Given the description of an element on the screen output the (x, y) to click on. 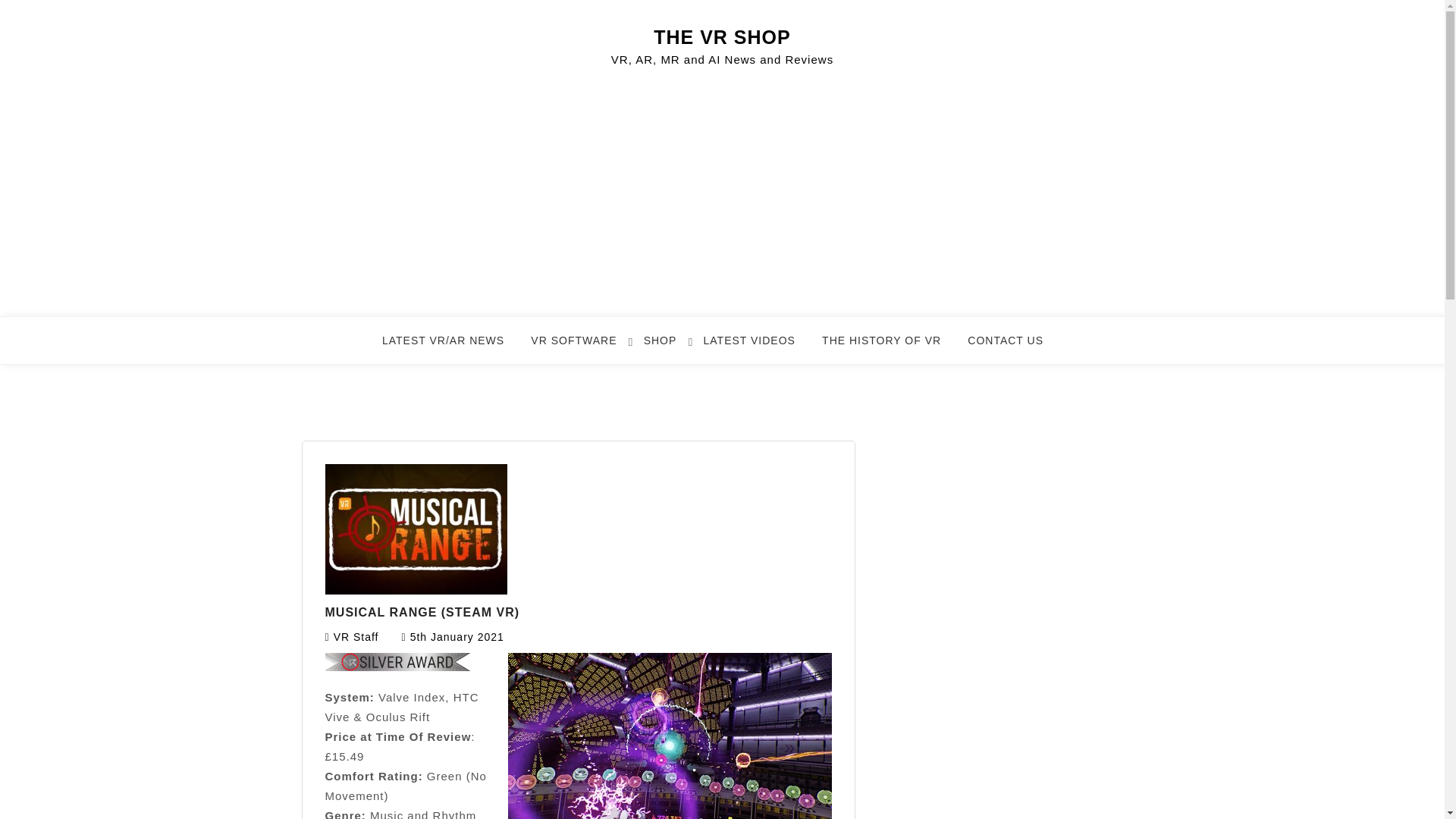
THE VR SHOP (721, 36)
THE HISTORY OF VR (890, 346)
SHOP (669, 346)
VR SOFTWARE (582, 346)
CONTACT US (1015, 346)
LATEST VIDEOS (758, 346)
VR Staff (355, 636)
5th January 2021 (456, 636)
